Given the description of an element on the screen output the (x, y) to click on. 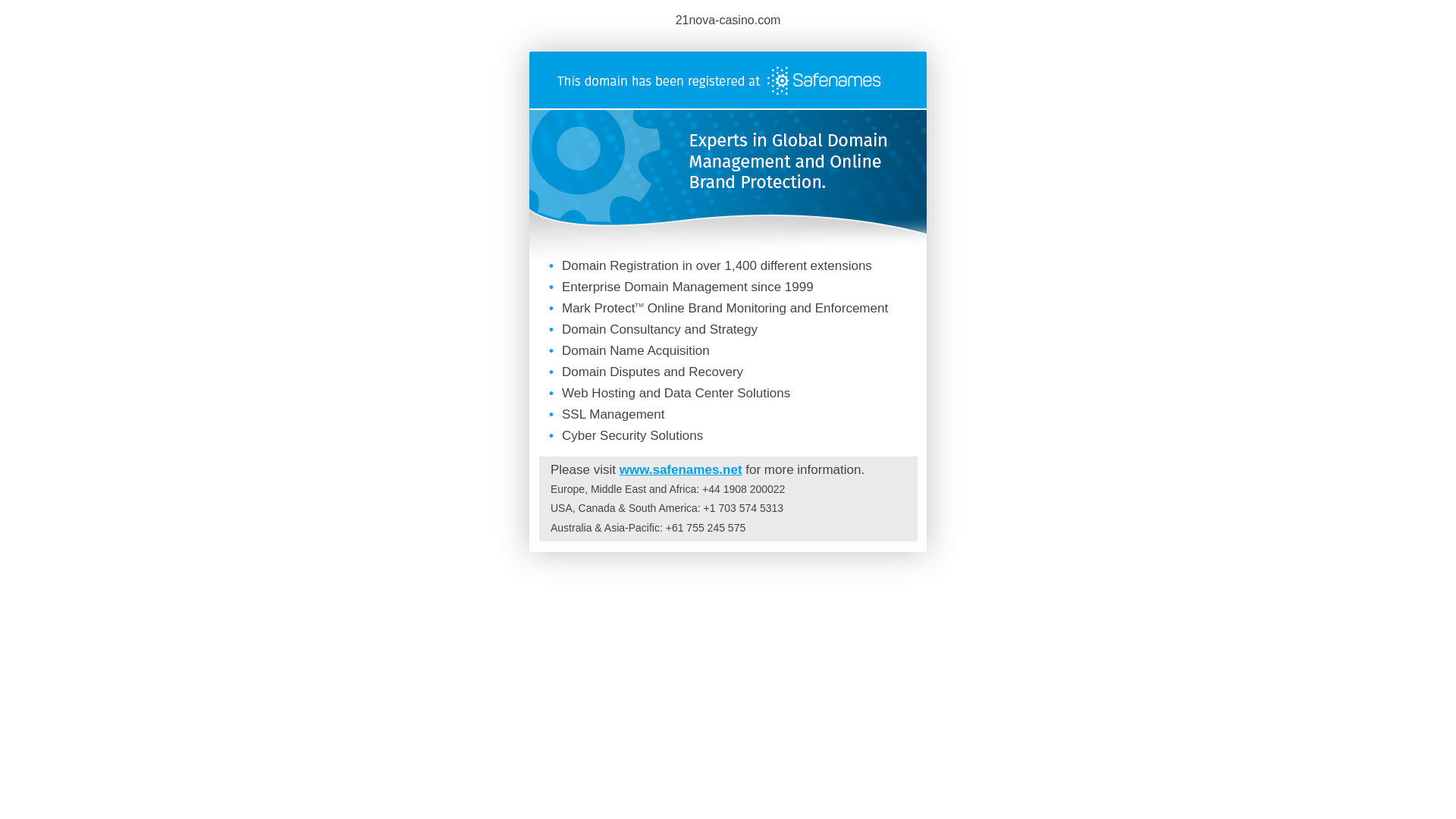
www.safenames.net Element type: text (680, 469)
